Given the description of an element on the screen output the (x, y) to click on. 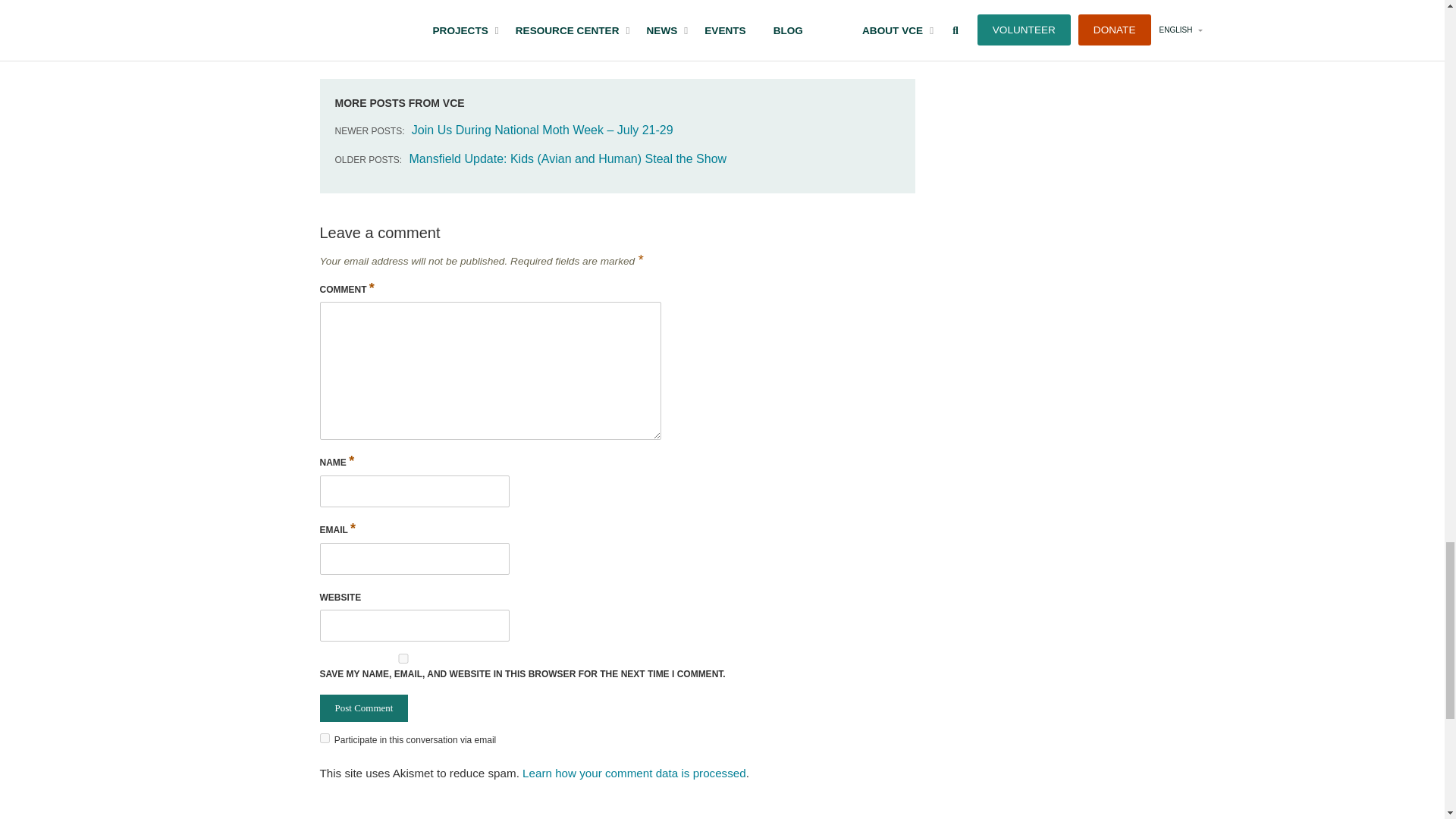
1 (325, 737)
yes (403, 658)
Post Comment (364, 707)
